Given the description of an element on the screen output the (x, y) to click on. 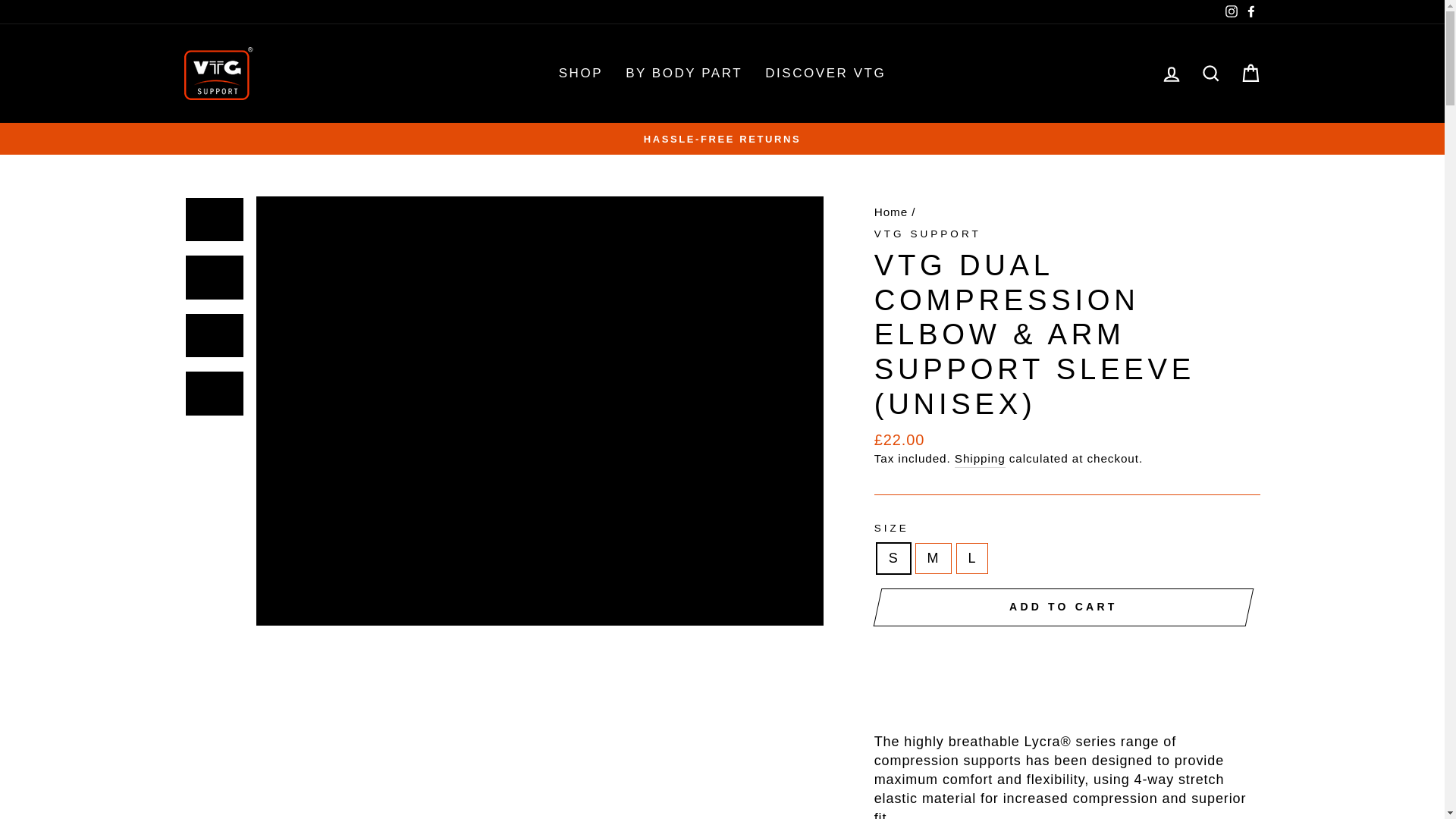
VTG Support on Facebook (1250, 11)
VTG Support (928, 233)
Back to the frontpage (891, 211)
VTG Support on Instagram (1230, 11)
